Given the description of an element on the screen output the (x, y) to click on. 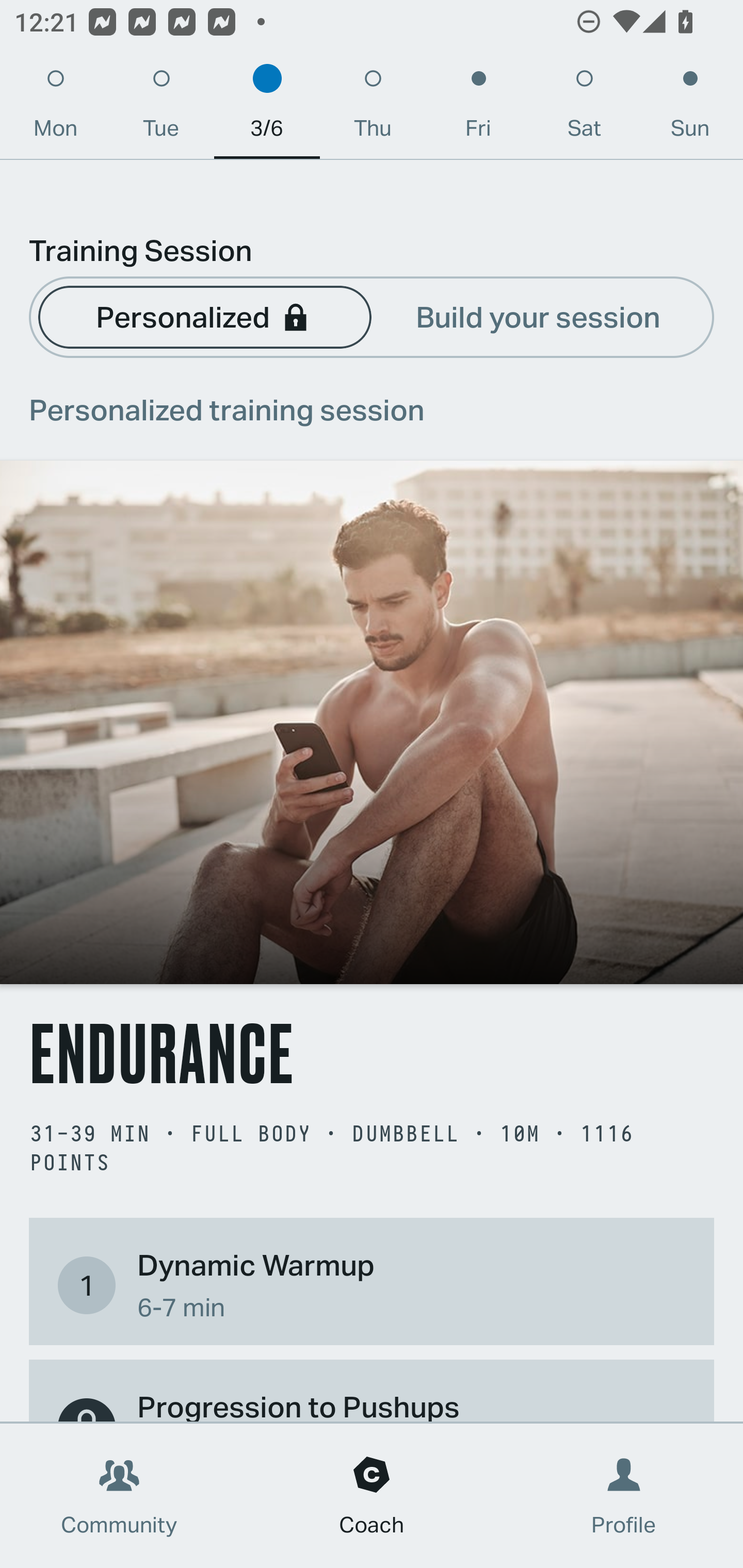
Mon (55, 108)
Tue (160, 108)
3/6 (266, 108)
Thu (372, 108)
Fri (478, 108)
Sat (584, 108)
Sun (690, 108)
Personalized (204, 315)
Build your session (538, 315)
1 Dynamic Warmup 6-7 min (371, 1284)
Community (119, 1495)
Profile (624, 1495)
